Given the description of an element on the screen output the (x, y) to click on. 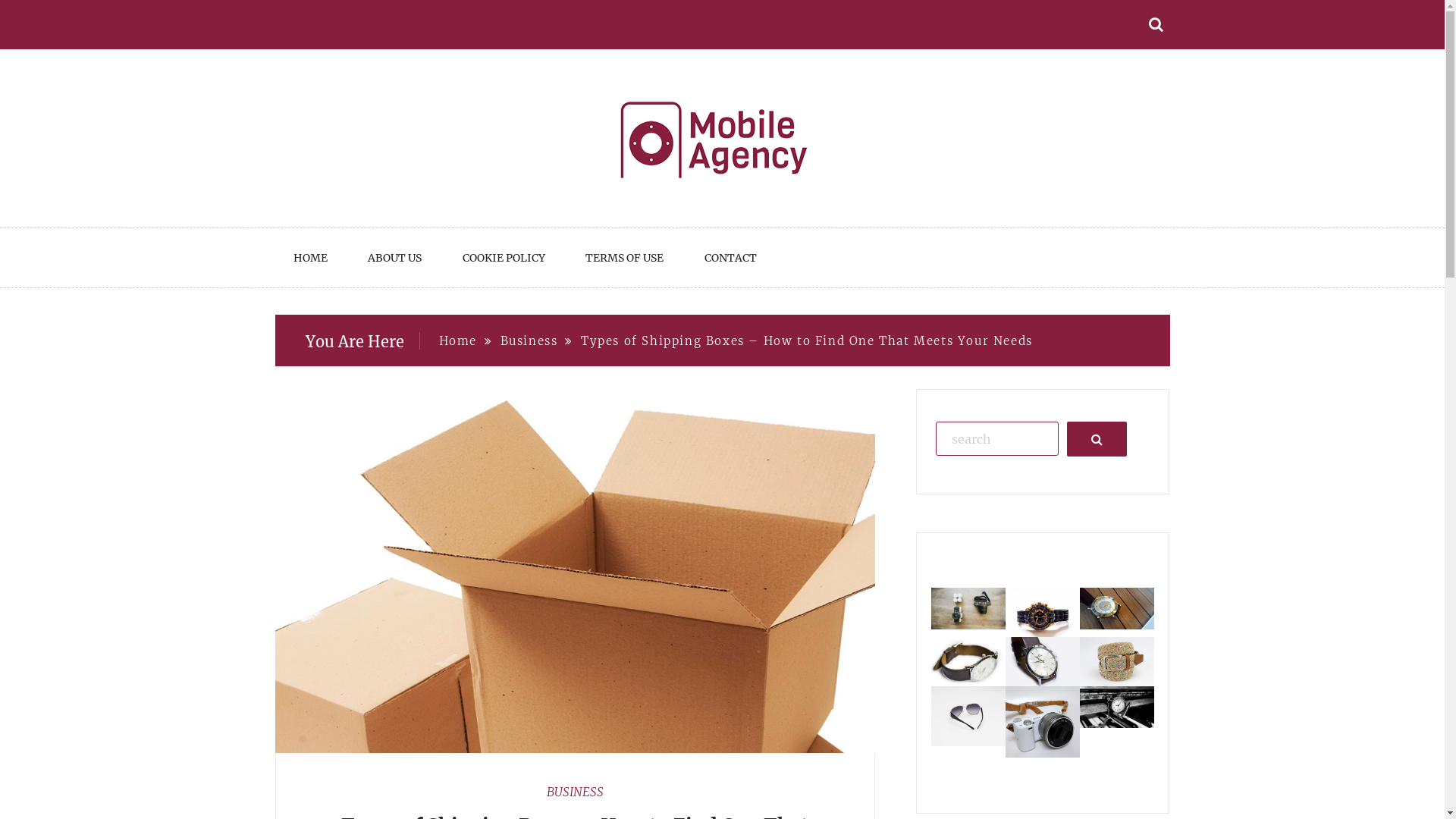
BUSINESS Element type: text (574, 791)
Home Element type: text (457, 340)
ABOUT US Element type: text (394, 257)
Search Element type: text (1096, 438)
CONTACT Element type: text (730, 257)
COOKIE POLICY Element type: text (503, 257)
TERMS OF USE Element type: text (624, 257)
Business Element type: text (529, 340)
HOME Element type: text (309, 257)
